Given the description of an element on the screen output the (x, y) to click on. 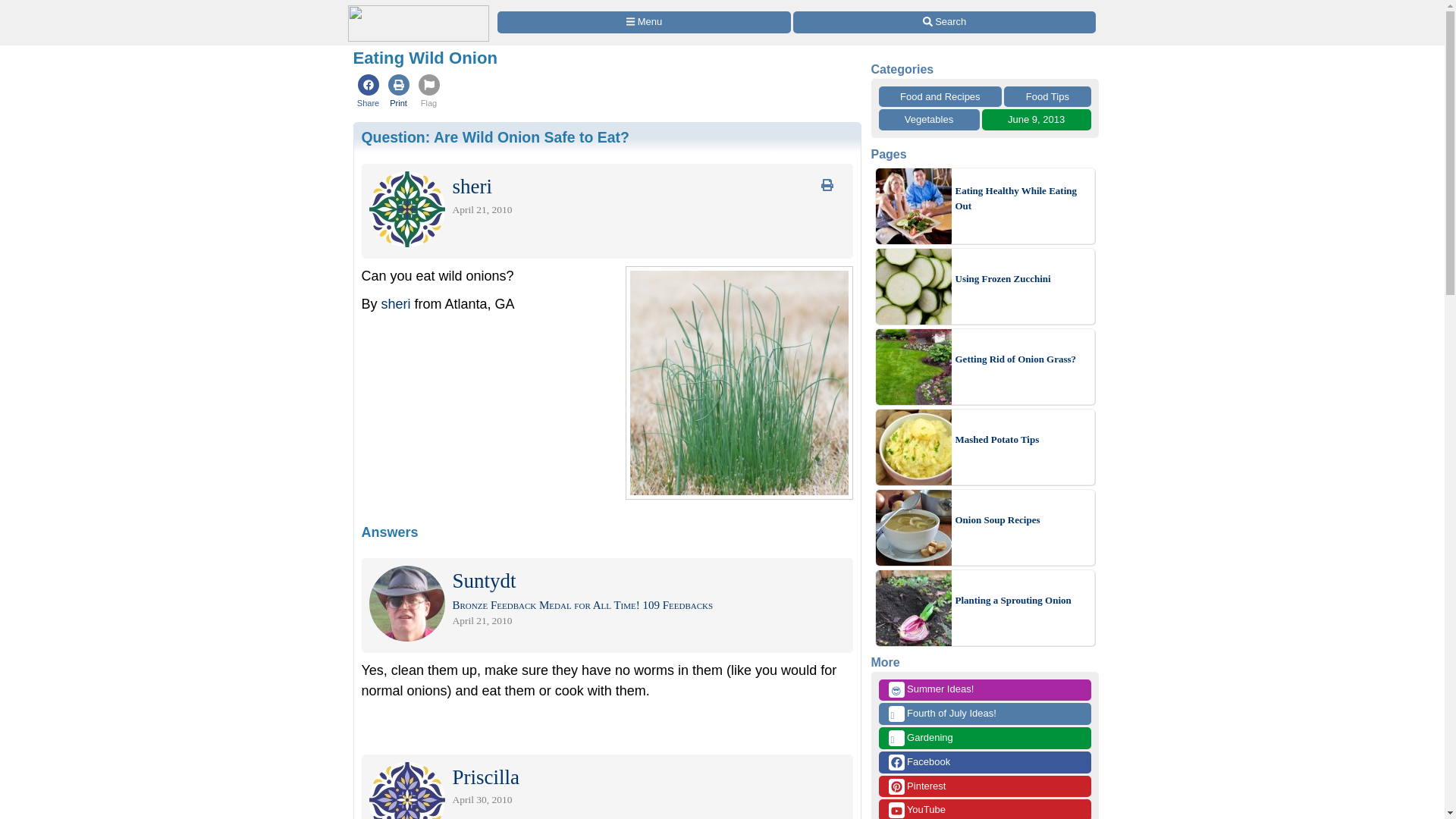
Priscilla (485, 780)
Question: Are Wild Onion Safe to Eat? (494, 136)
sheri (471, 189)
sheri (395, 304)
Suntydt (483, 583)
